Given the description of an element on the screen output the (x, y) to click on. 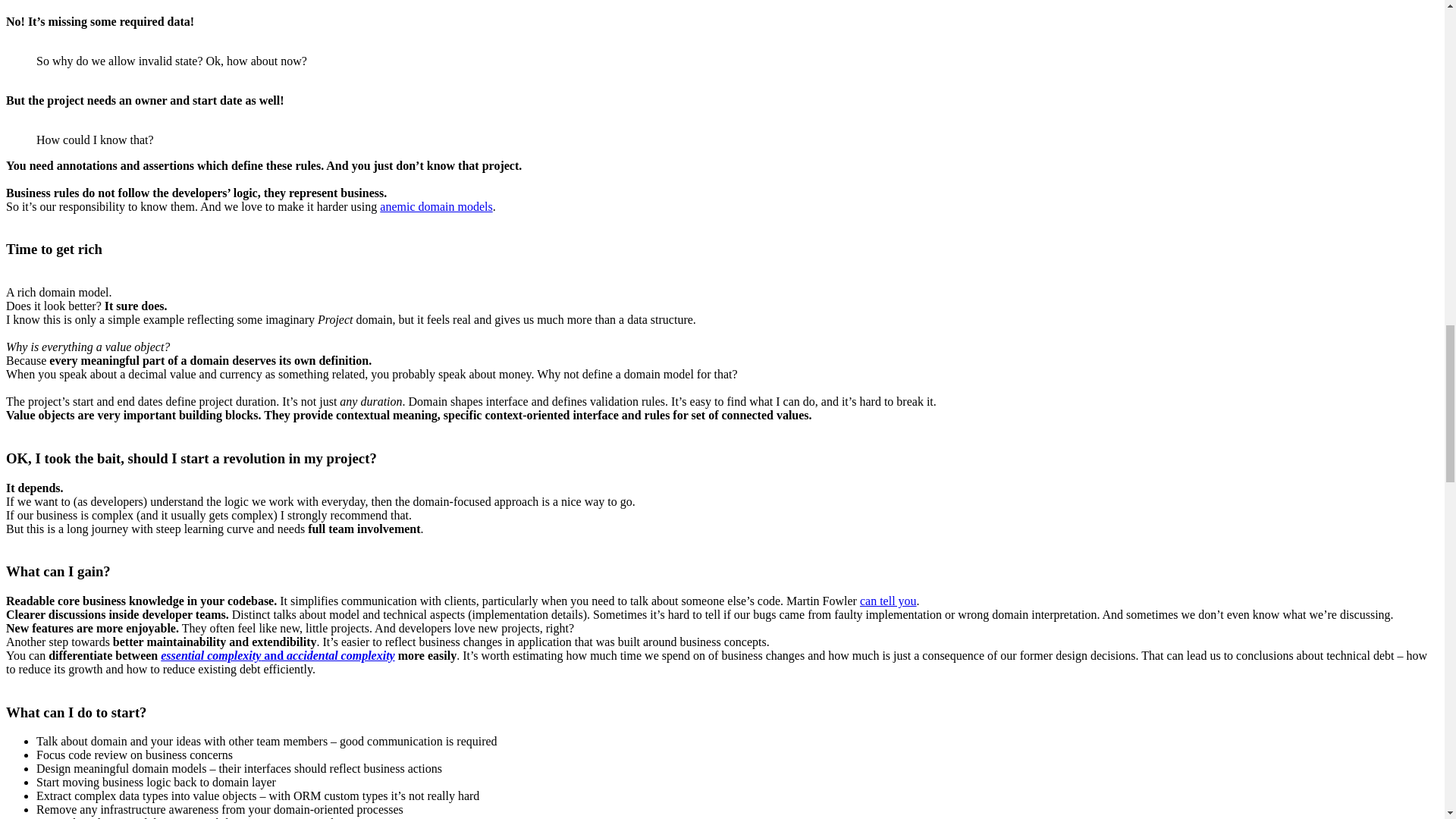
can tell you (888, 600)
anemic domain models (436, 205)
essential complexity and accidental complexity (277, 655)
